Given the description of an element on the screen output the (x, y) to click on. 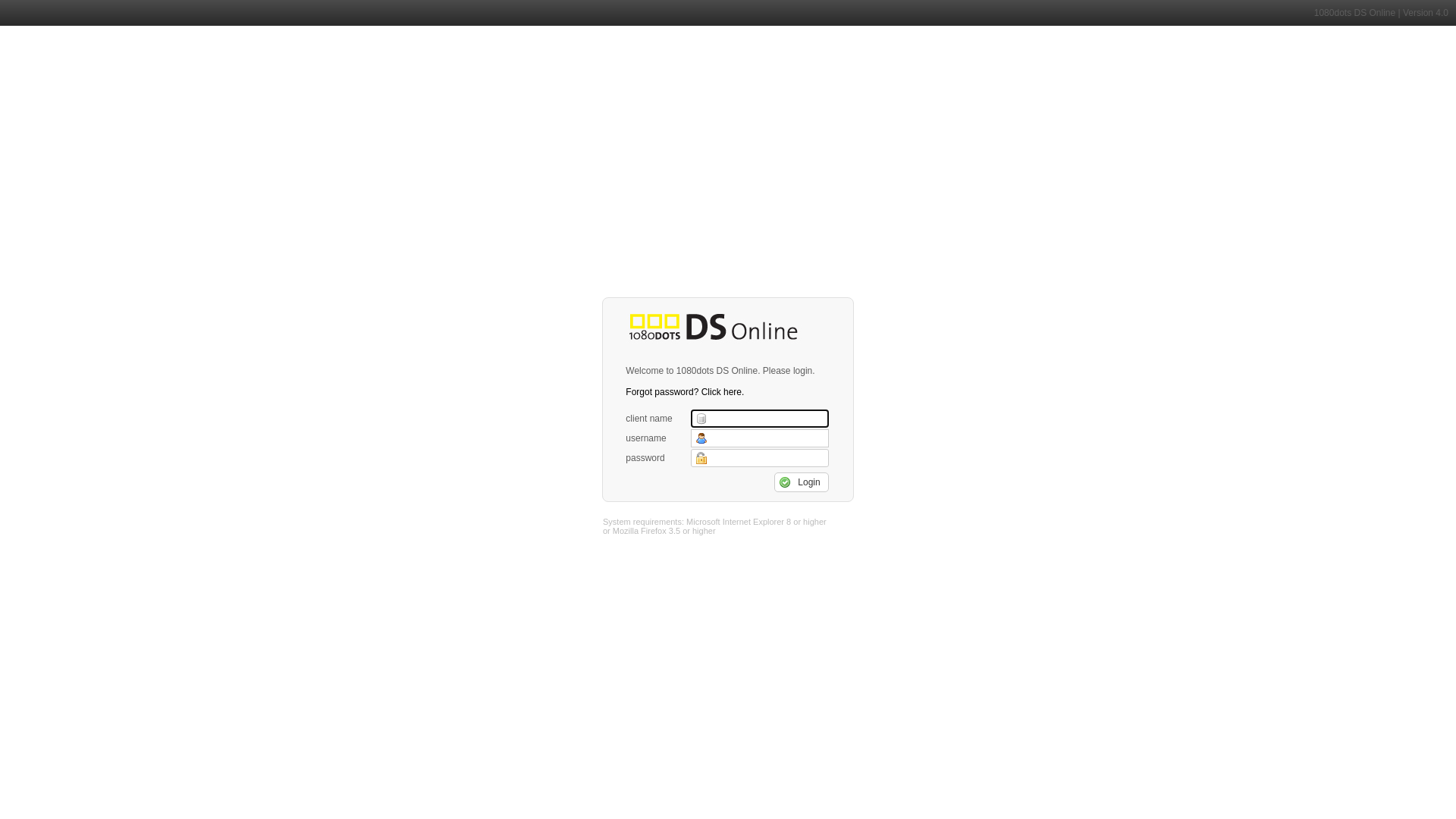
Login Element type: text (801, 482)
Forgot password? Click here. Element type: text (684, 391)
